Given the description of an element on the screen output the (x, y) to click on. 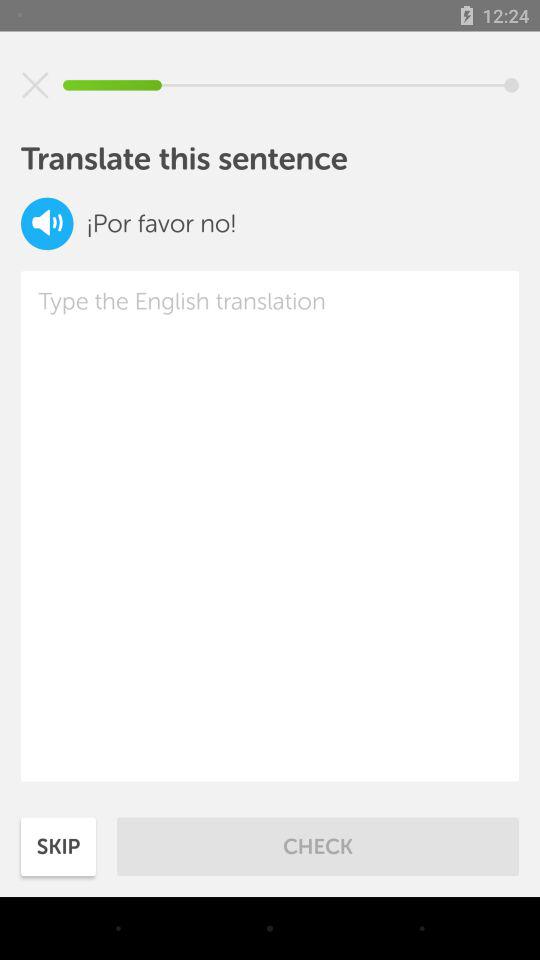
press the item next to the skip (318, 846)
